Given the description of an element on the screen output the (x, y) to click on. 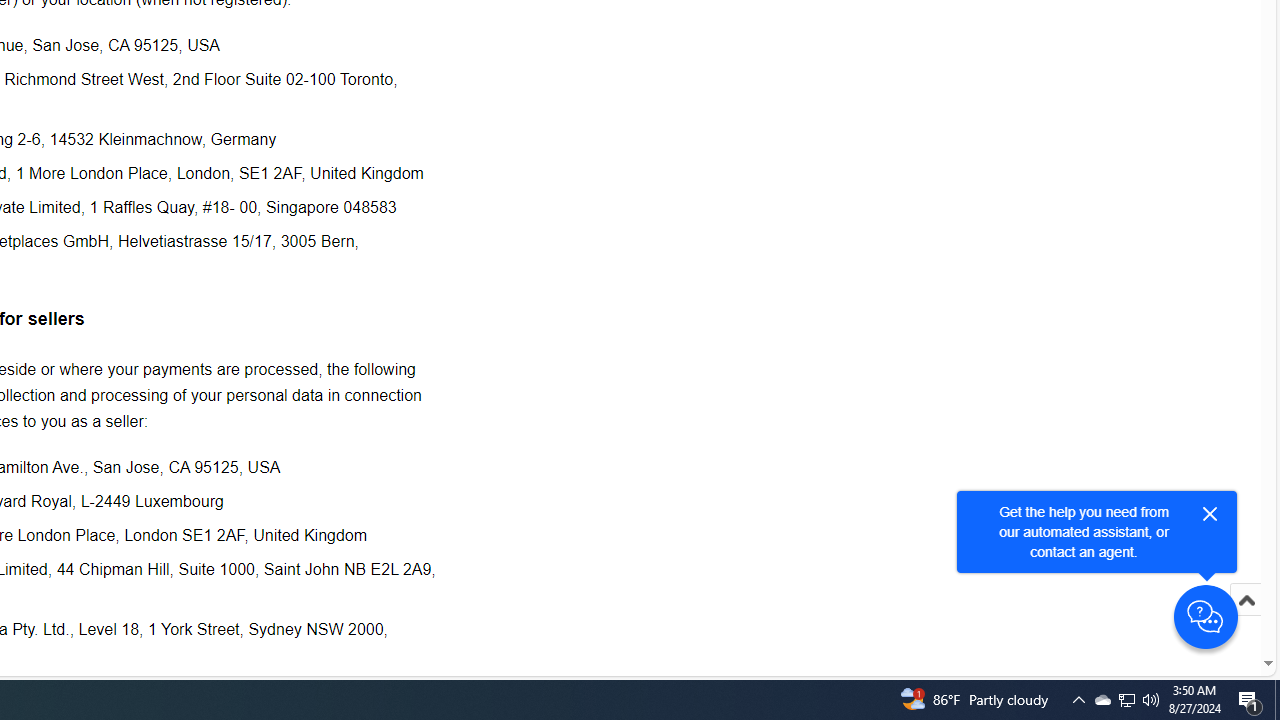
Scroll to top (1246, 620)
Scroll to top (1246, 599)
